Given the description of an element on the screen output the (x, y) to click on. 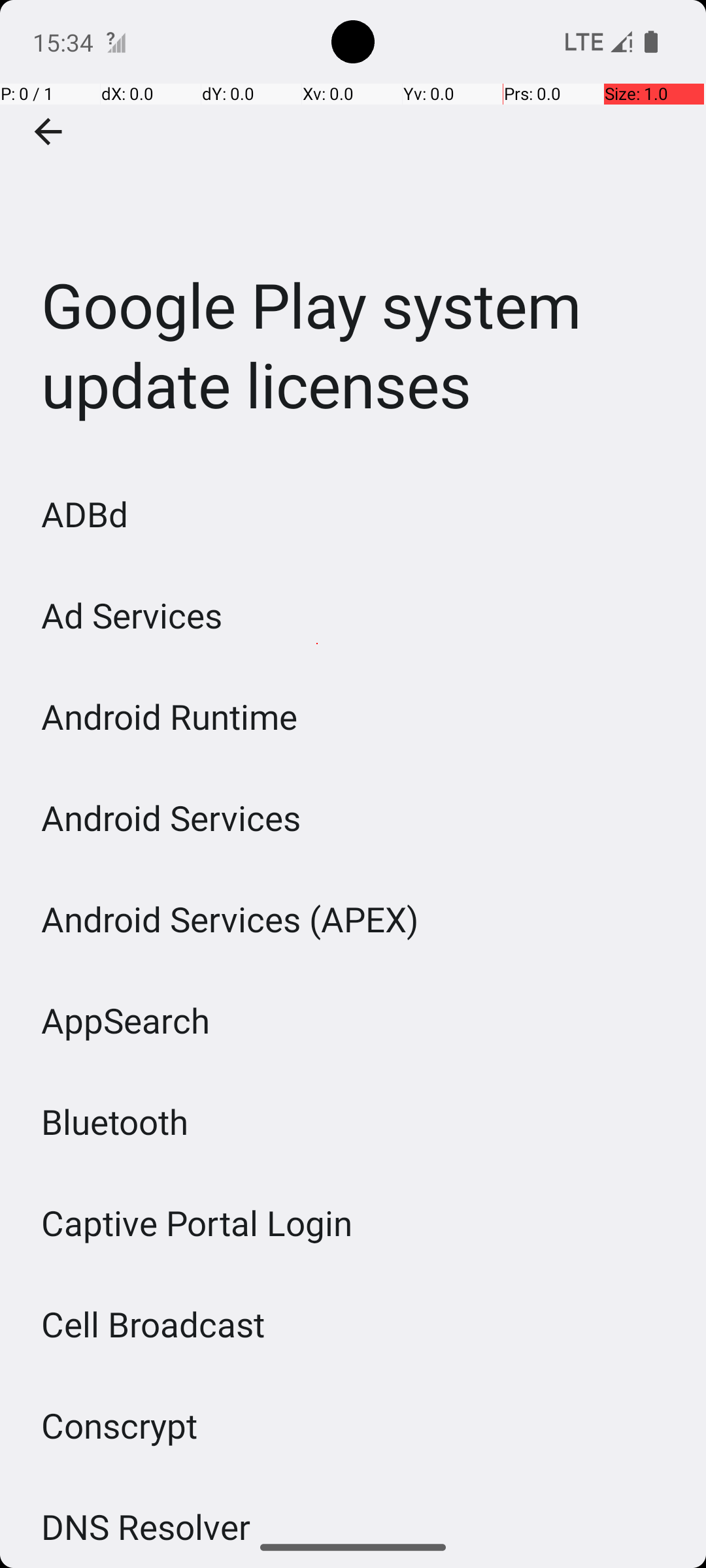
Google Play system update licenses Element type: android.widget.FrameLayout (353, 231)
ADBd Element type: android.widget.TextView (84, 513)
Ad Services Element type: android.widget.TextView (131, 614)
Android Runtime Element type: android.widget.TextView (169, 716)
Android Services Element type: android.widget.TextView (170, 817)
Android Services (APEX) Element type: android.widget.TextView (229, 918)
AppSearch Element type: android.widget.TextView (125, 1019)
Bluetooth Element type: android.widget.TextView (114, 1121)
Captive Portal Login Element type: android.widget.TextView (196, 1222)
Cell Broadcast Element type: android.widget.TextView (153, 1323)
Conscrypt Element type: android.widget.TextView (119, 1425)
DNS Resolver Element type: android.widget.TextView (145, 1514)
